Given the description of an element on the screen output the (x, y) to click on. 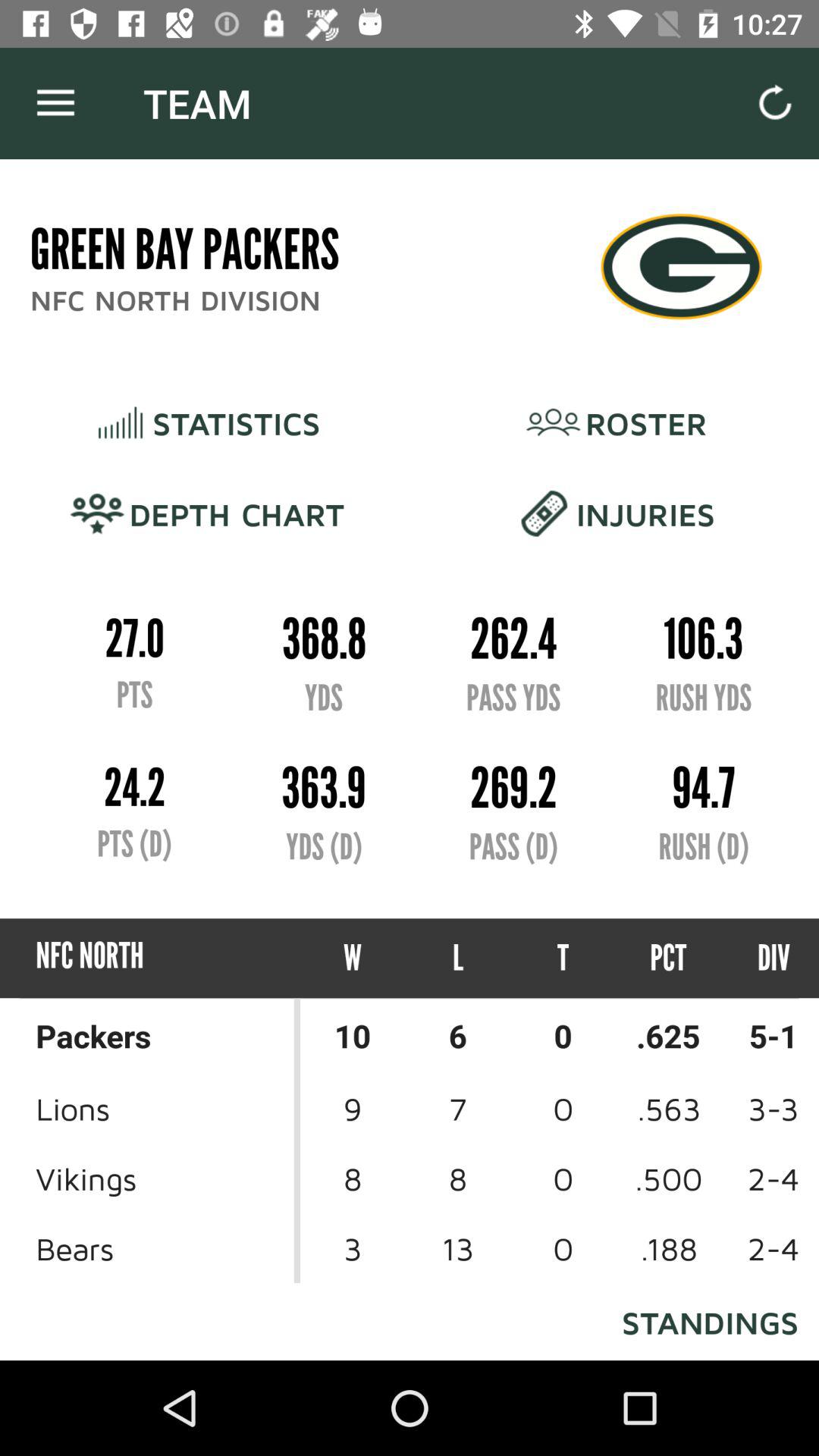
select icon above the 0 (668, 958)
